Given the description of an element on the screen output the (x, y) to click on. 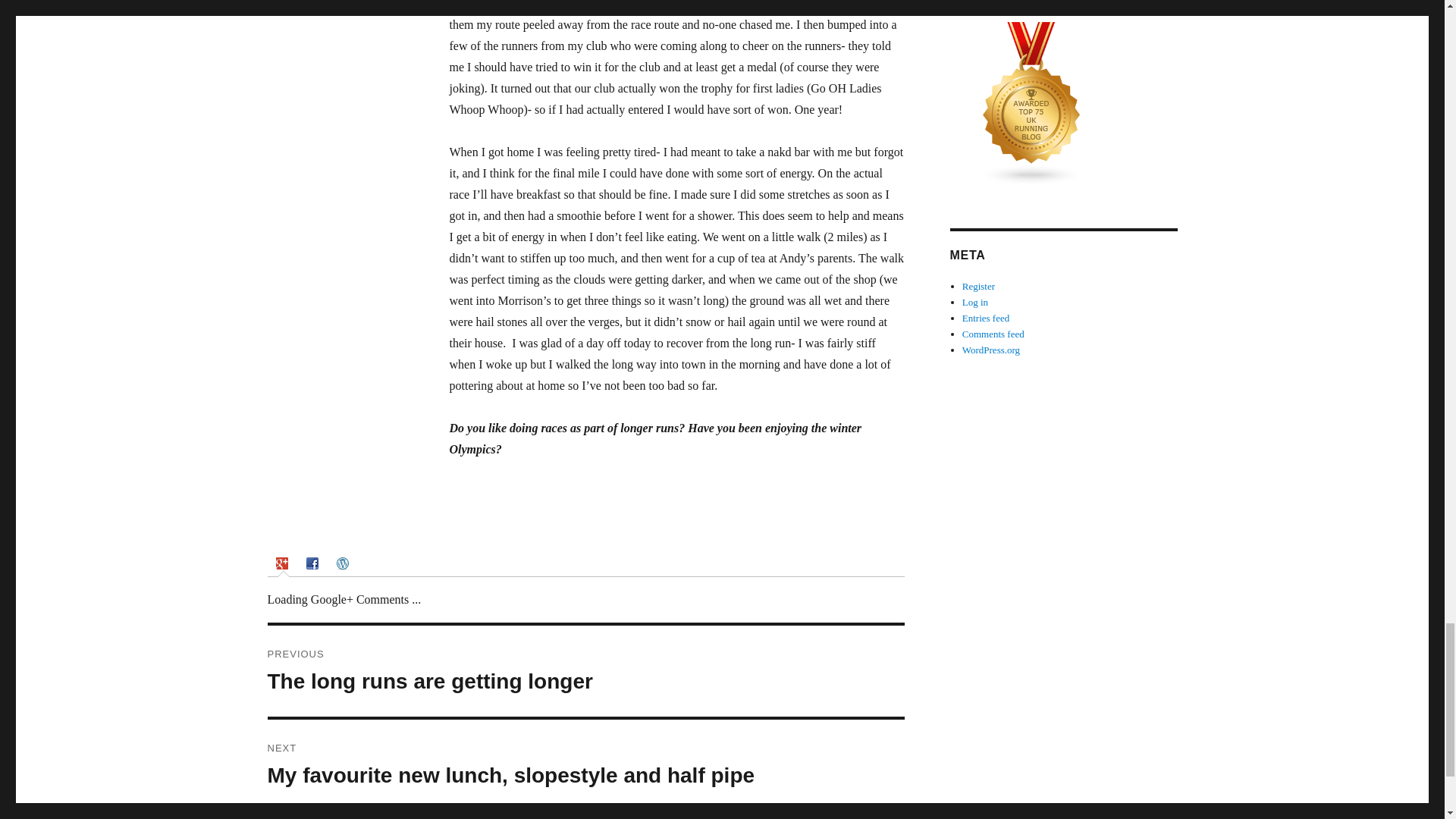
UK Running blogs (585, 670)
